Given the description of an element on the screen output the (x, y) to click on. 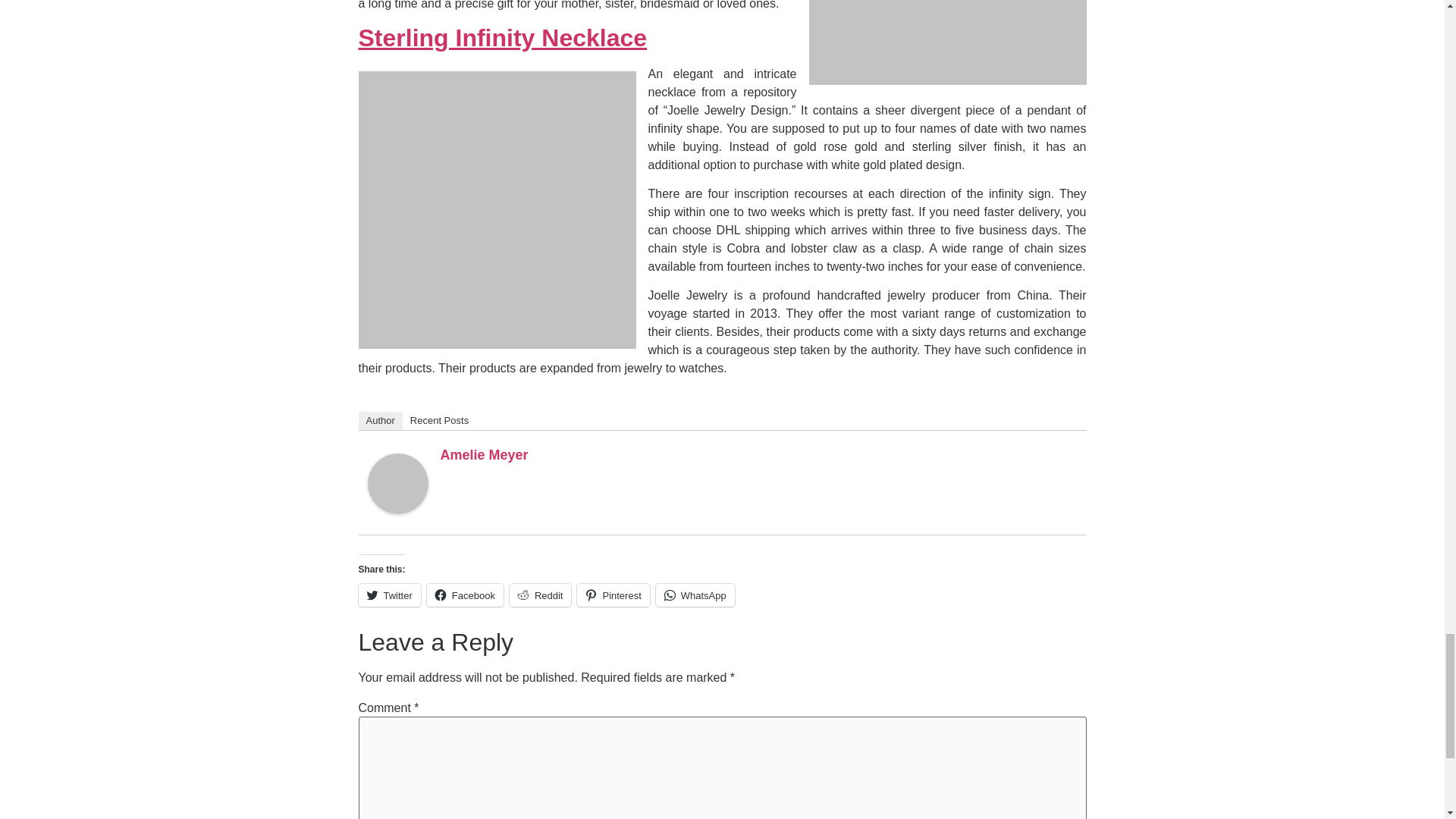
Recent Posts (439, 420)
Amelie Meyer (397, 509)
Amelie Meyer (483, 454)
Click to share on Pinterest (612, 594)
Click to share on Reddit (540, 594)
Click to share on Twitter (389, 594)
Author (379, 420)
Click to share on Facebook (464, 594)
Sterling Infinity Necklace (502, 37)
